Given the description of an element on the screen output the (x, y) to click on. 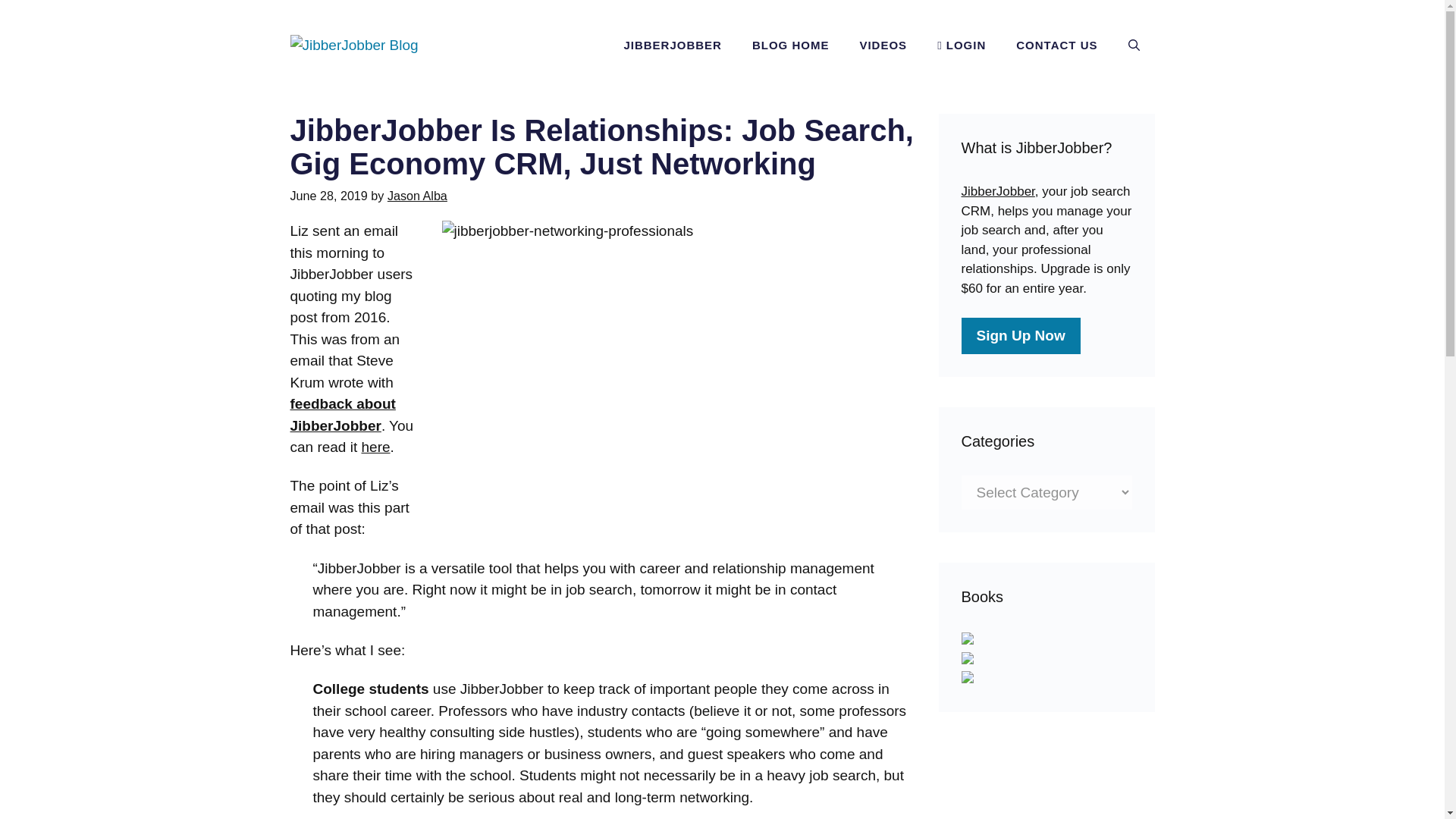
BLOG HOME (790, 44)
VIDEOS (882, 44)
here (375, 446)
JibberJobber Blog (353, 44)
JIBBERJOBBER (672, 44)
View all posts by Jason Alba (416, 195)
Sign Up Now (1020, 334)
JibberJobber Blog (353, 45)
Jason Alba (416, 195)
JibberJobber (997, 191)
